Given the description of an element on the screen output the (x, y) to click on. 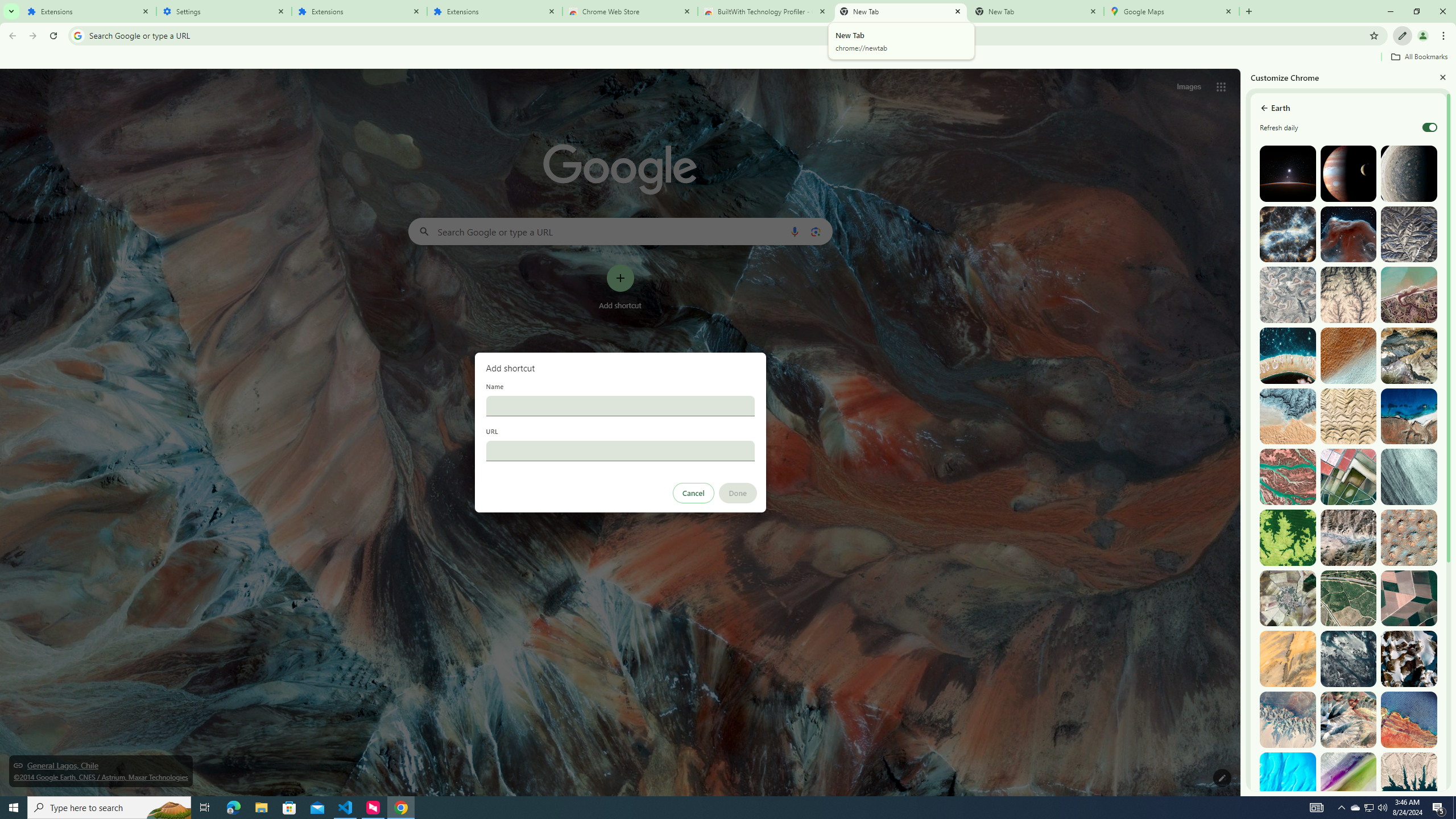
New Tab (1036, 11)
